Given the description of an element on the screen output the (x, y) to click on. 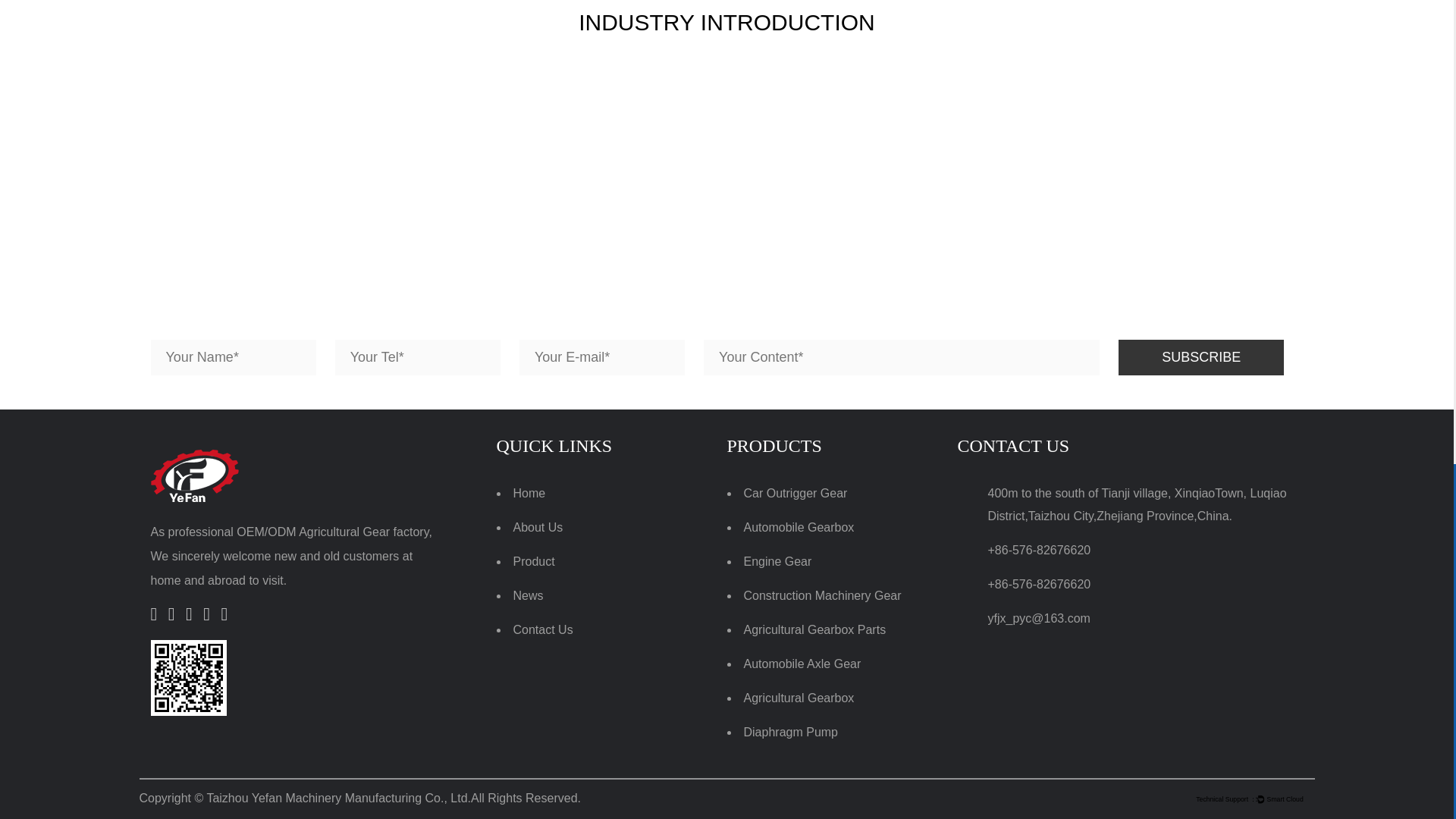
SUBSCRIBE (1201, 356)
